Given the description of an element on the screen output the (x, y) to click on. 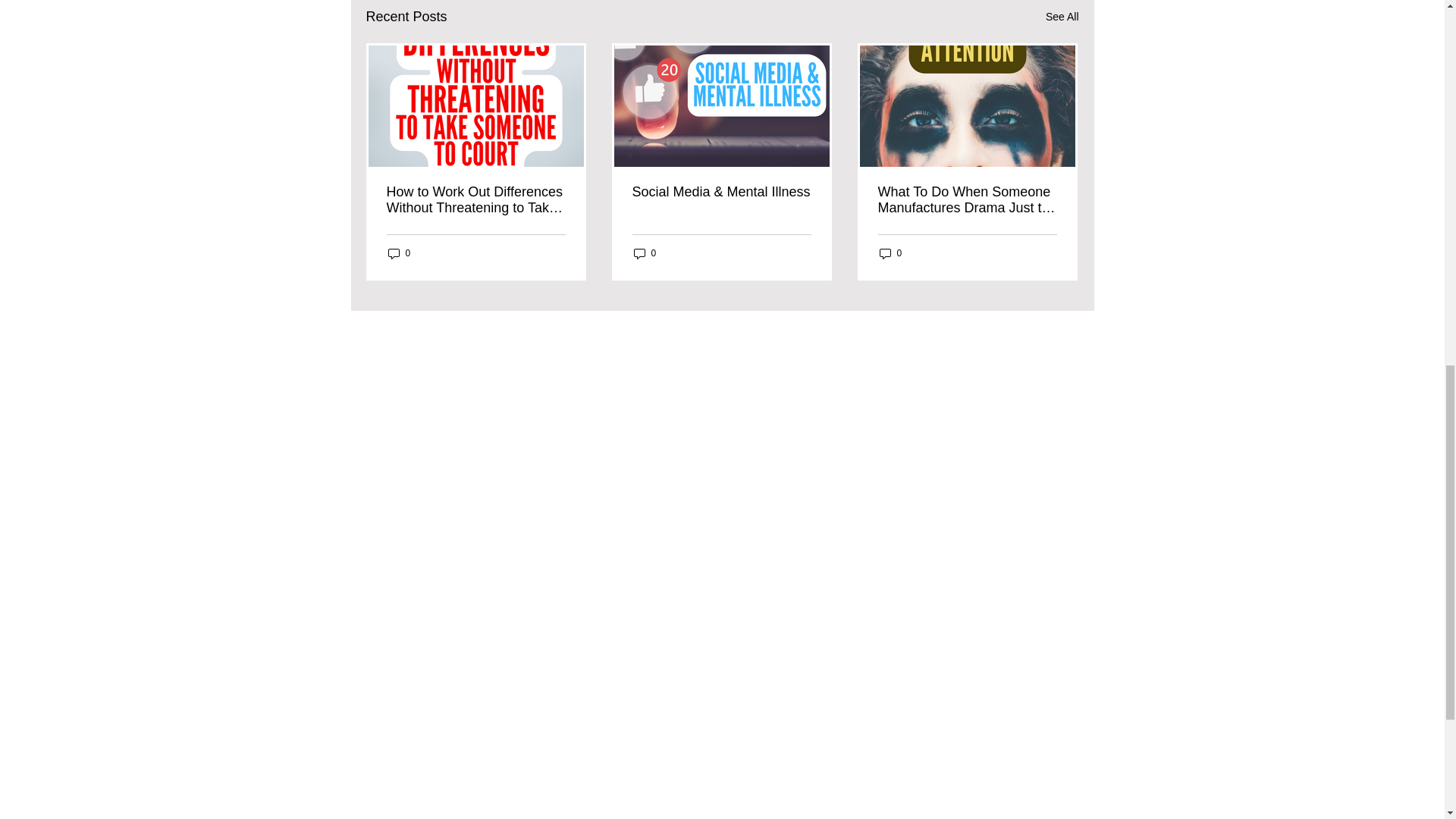
0 (644, 253)
See All (1061, 16)
0 (399, 253)
